Given the description of an element on the screen output the (x, y) to click on. 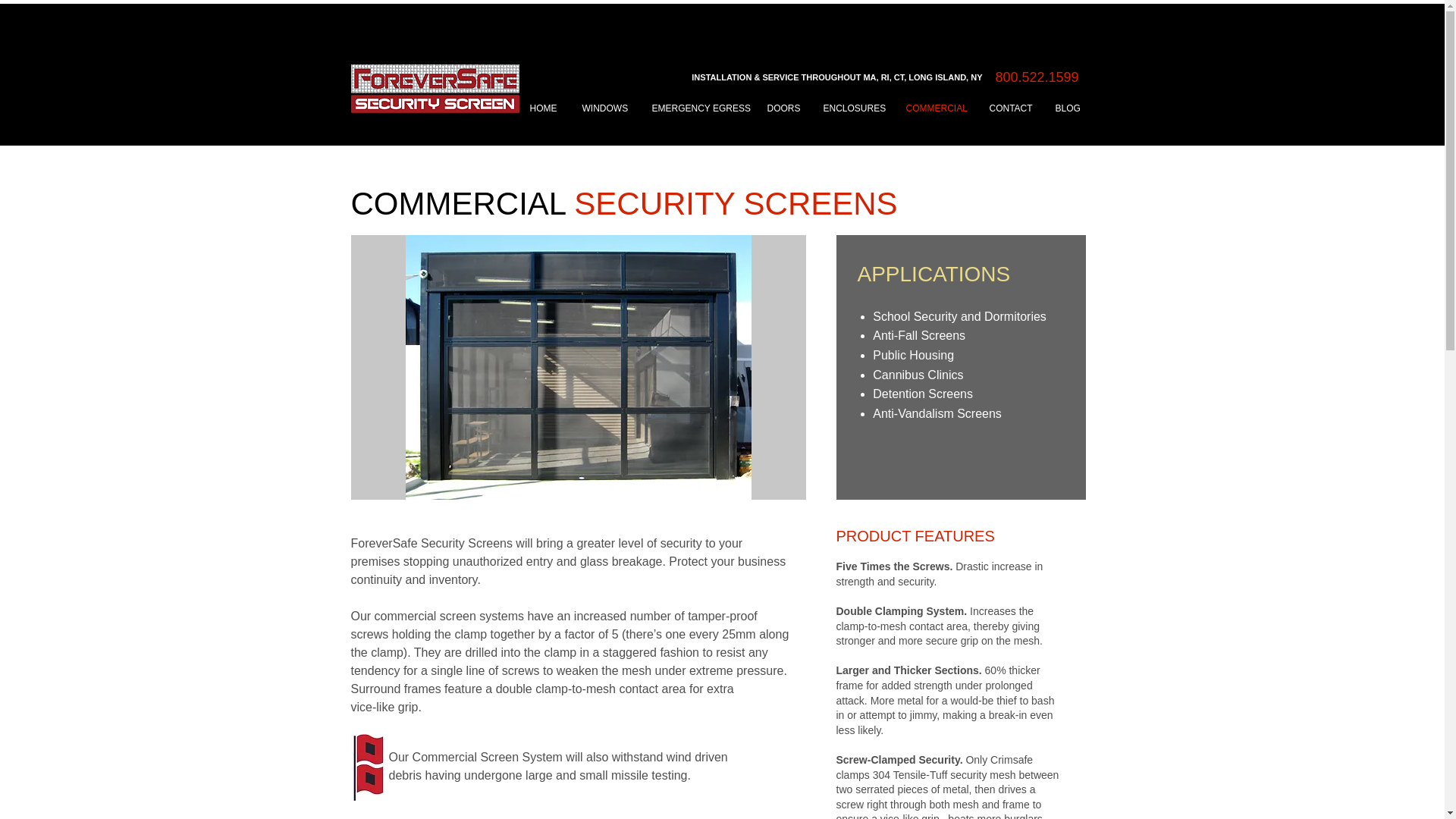
WINDOWS (605, 108)
DOORS (782, 108)
BLOG (1067, 108)
COMMERCIAL (936, 108)
EMERGENCY EGRESS (697, 108)
HOME (544, 108)
ENCLOSURES (851, 108)
CONTACT (1010, 108)
